Given the description of an element on the screen output the (x, y) to click on. 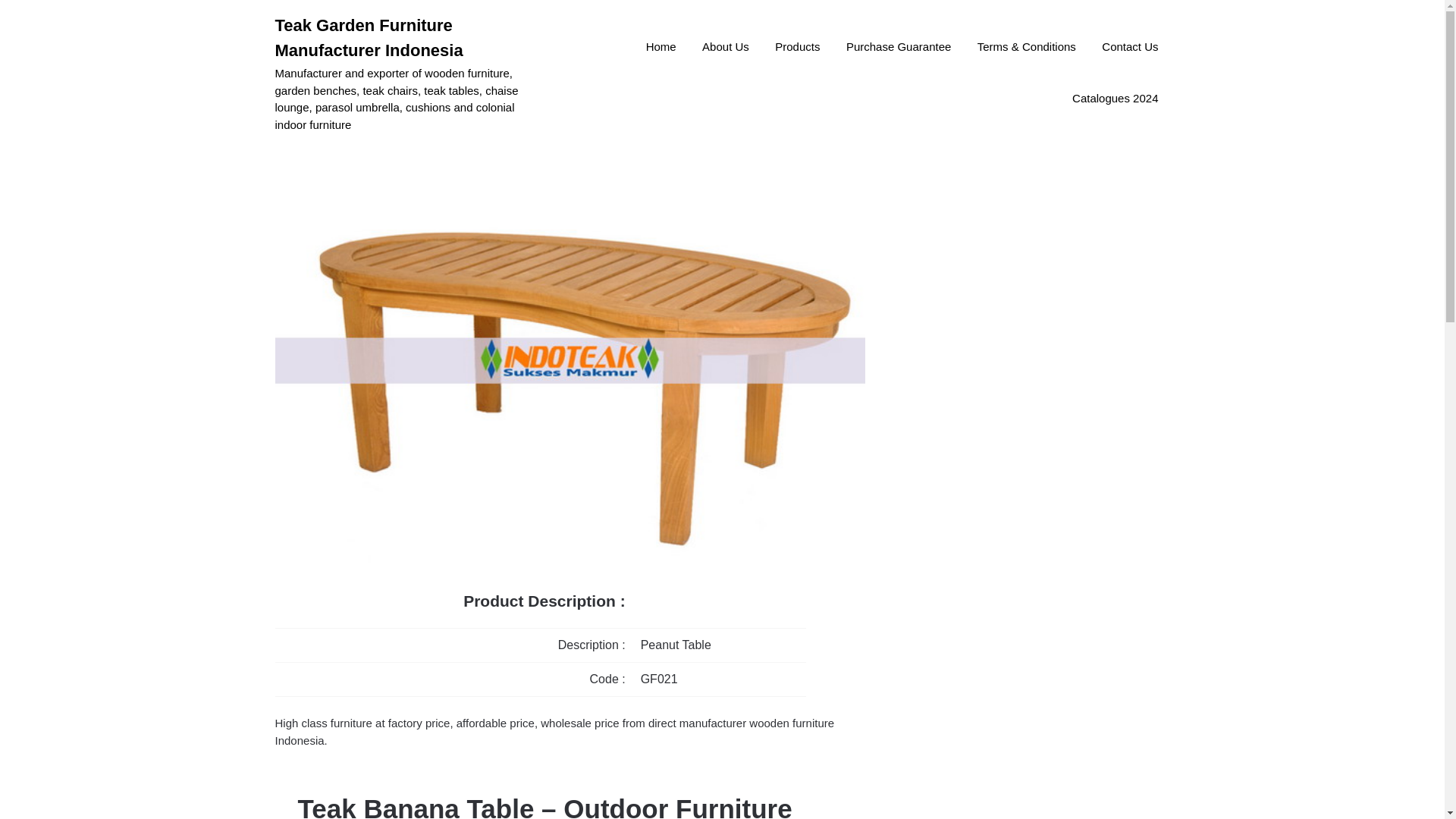
Contact Us (1129, 47)
Teak Garden Furniture Manufacturer Indonesia (409, 38)
Products (796, 47)
About Us (725, 47)
Home (660, 47)
Purchase Guarantee (898, 47)
Catalogues 2024 (1115, 98)
